Given the description of an element on the screen output the (x, y) to click on. 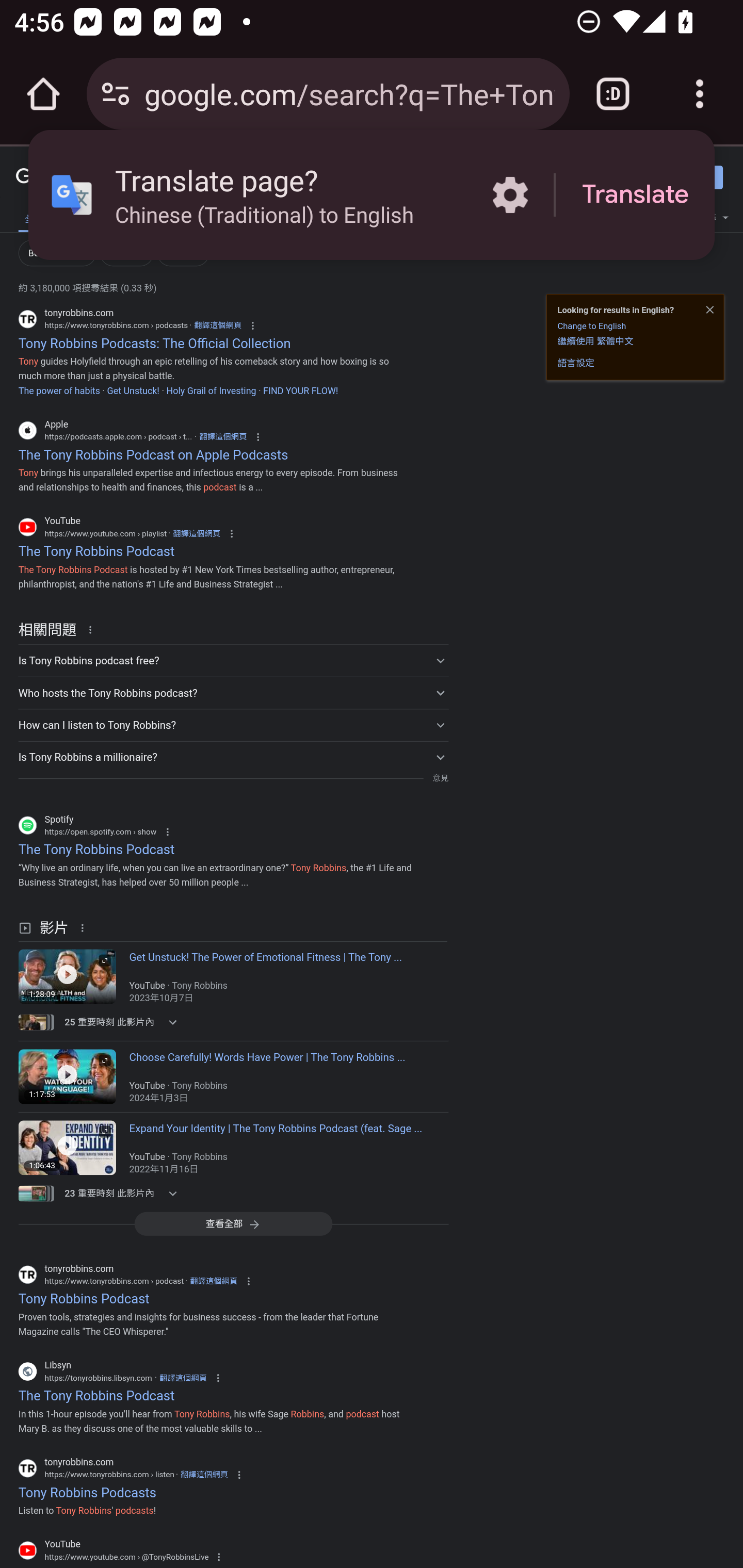
Open the home page (43, 93)
Connection is secure (115, 93)
Switch or close tabs (612, 93)
Customize and control Google Chrome (699, 93)
Translate (634, 195)
More options in the Translate page? (509, 195)
翻譯這個網頁 (217, 325)
Change to English (591, 325)
繼續使用 繁體中文 繼續使用  繁體中文 (595, 339)
語言設定 (576, 362)
The power of habits (58, 390)
Get Unstuck! (132, 390)
Holy Grail of Investing (211, 390)
FIND YOUR FLOW! (300, 390)
翻譯這個網頁 (223, 436)
翻譯這個網頁 (196, 532)
關於此結果 (93, 629)
Is Tony Robbins podcast free? (232, 660)
Who hosts the Tony Robbins podcast? (232, 691)
How can I listen to Tony Robbins? (232, 724)
Is Tony Robbins a millionaire? (232, 756)
意見 (439, 778)
關於此結果 (85, 927)
25 重要時刻  此影片內 (123, 1022)
23 重要時刻  此影片內 (123, 1193)
查看全部 (233, 1223)
翻譯這個網頁 (213, 1280)
翻譯這個網頁 (182, 1378)
翻譯這個網頁 (203, 1473)
